Given the description of an element on the screen output the (x, y) to click on. 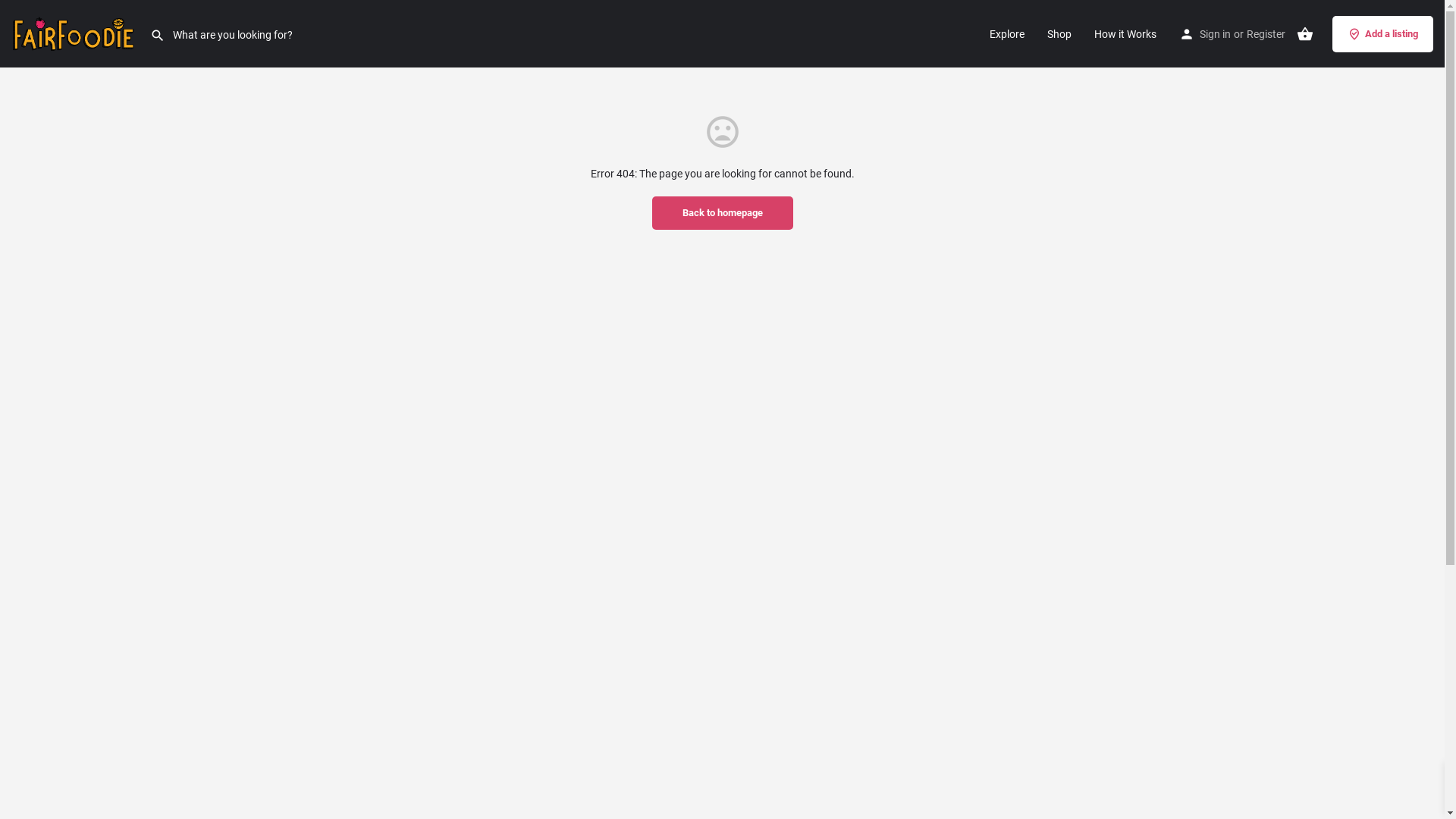
Sign in Element type: text (1214, 33)
Shop Element type: text (1059, 32)
Back to homepage Element type: text (722, 212)
Register Element type: text (1265, 33)
Explore Element type: text (1006, 32)
How it Works Element type: text (1125, 32)
View your shopping cart Element type: hover (1304, 33)
Add a listing Element type: text (1382, 33)
